Given the description of an element on the screen output the (x, y) to click on. 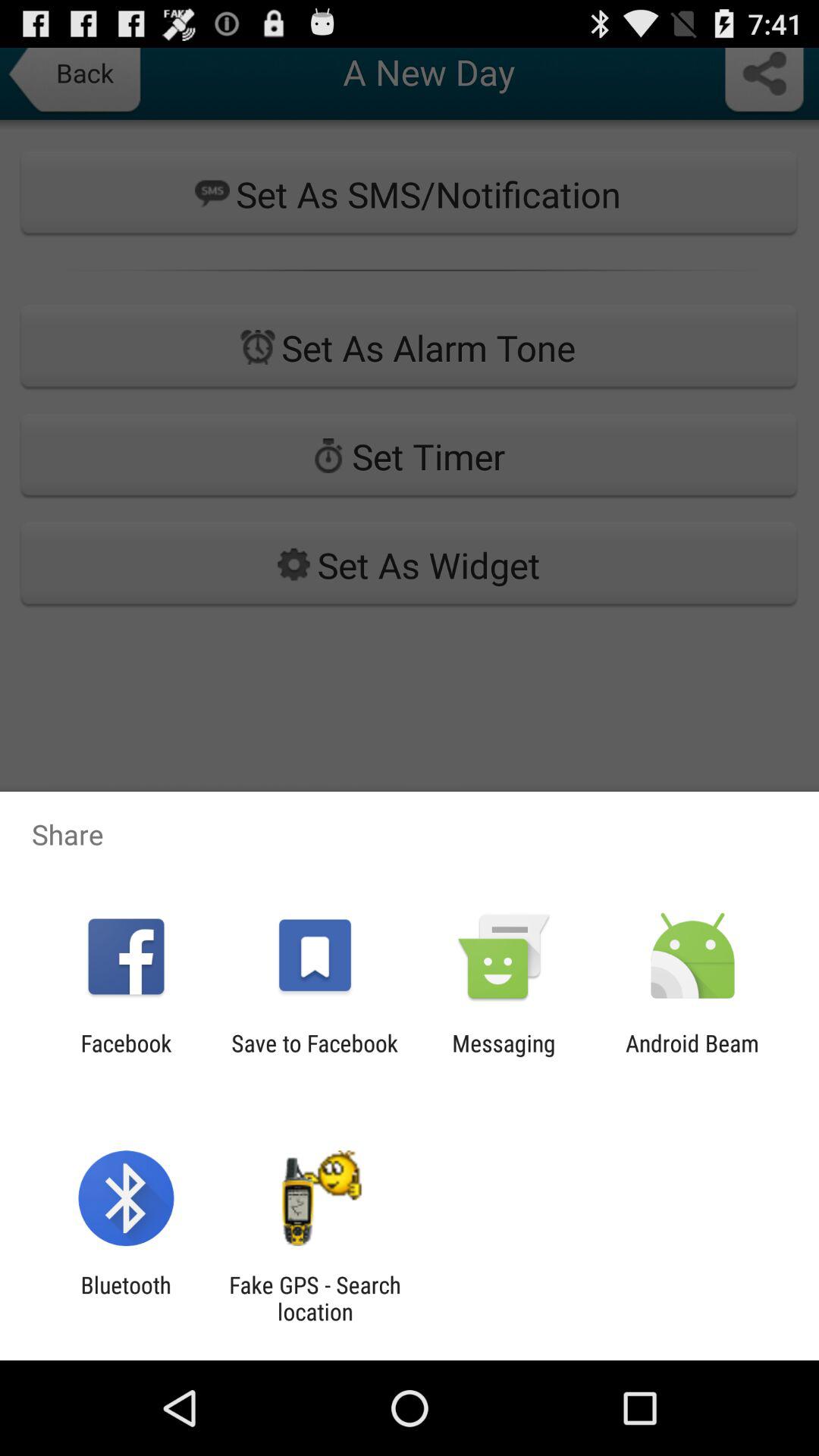
choose the icon to the right of facebook icon (314, 1056)
